Given the description of an element on the screen output the (x, y) to click on. 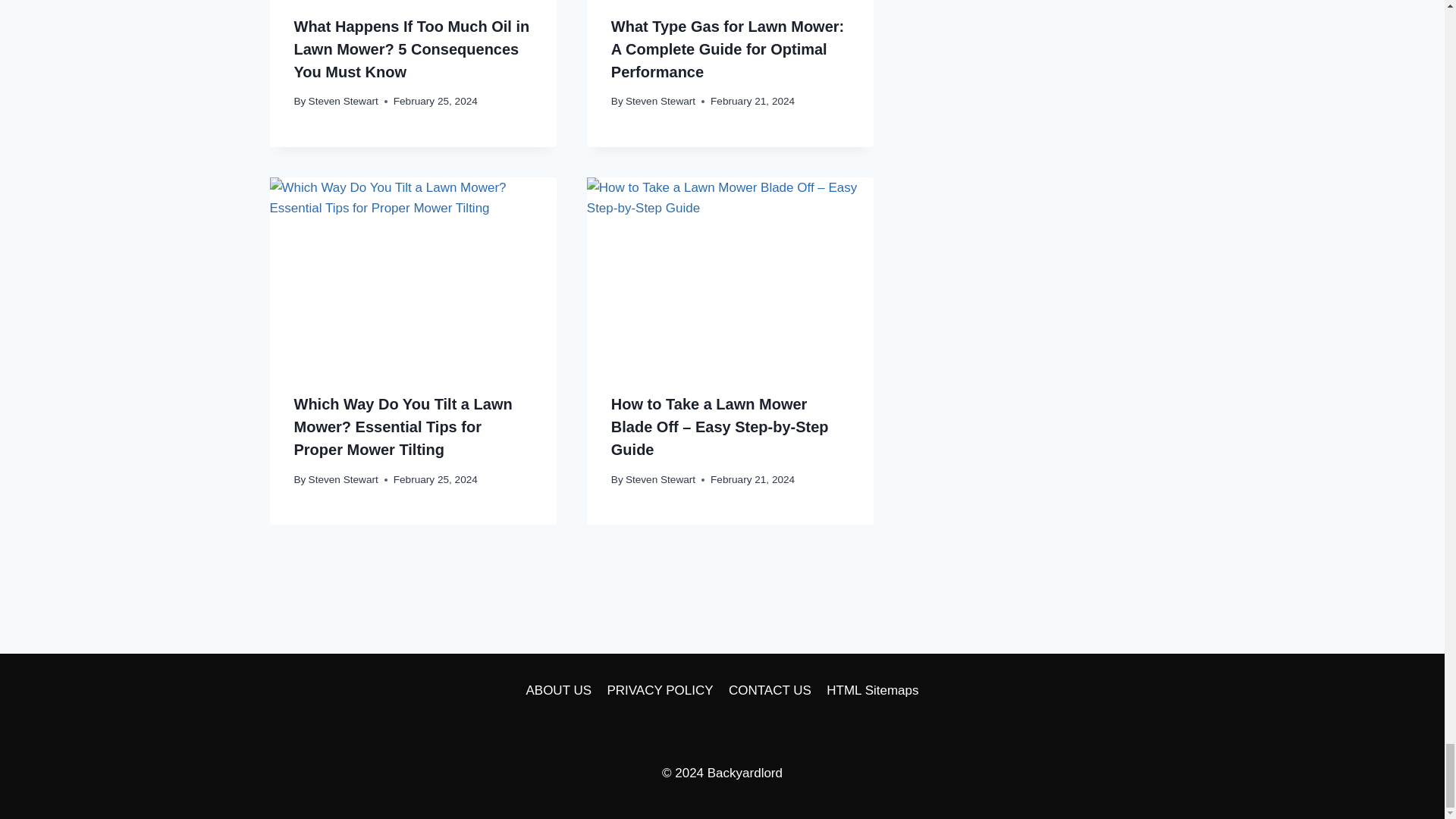
How to Take a Lawn Mower Blade Off - Easy Step-by-Step Guide (729, 272)
